Given the description of an element on the screen output the (x, y) to click on. 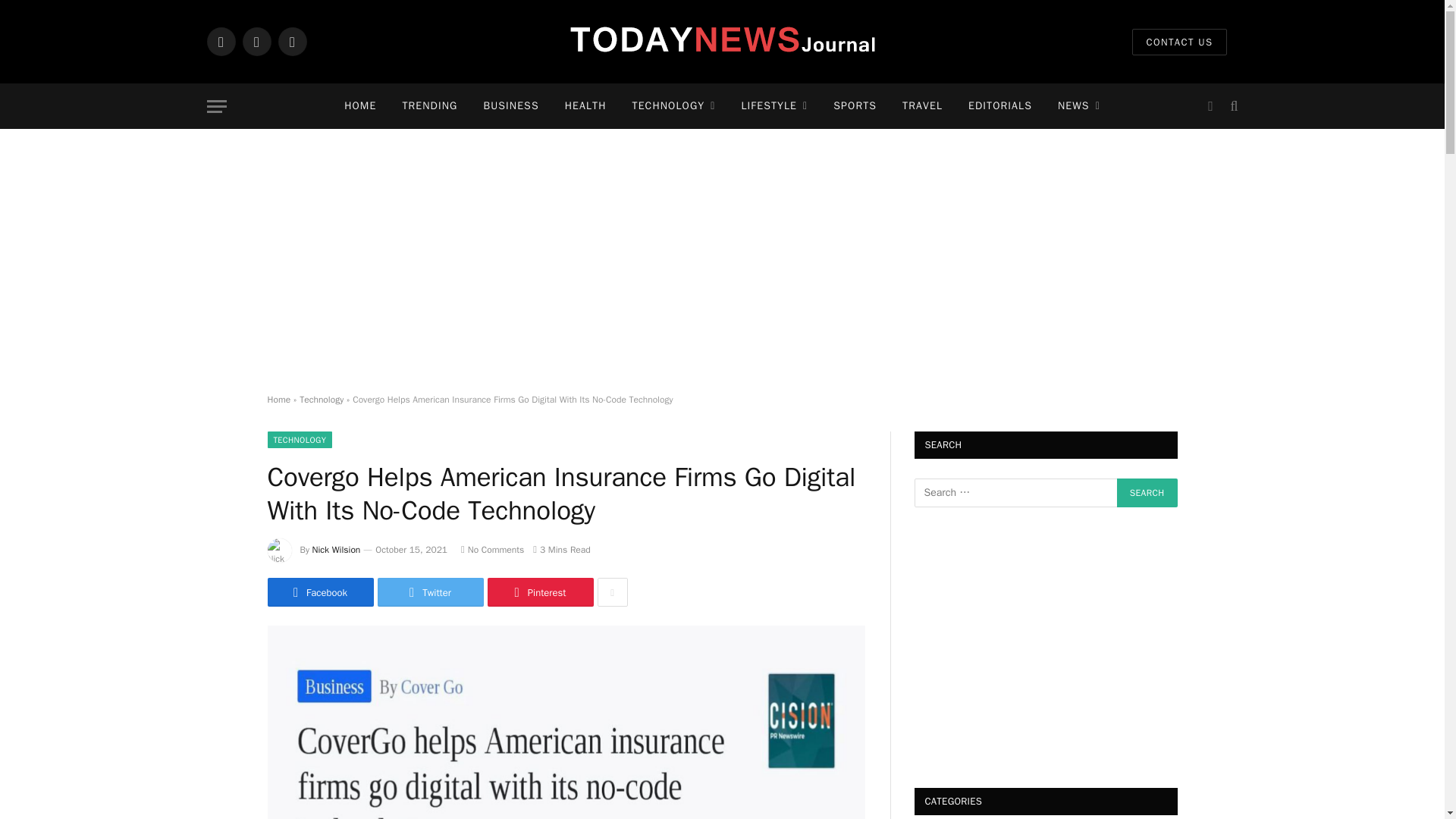
NEWS (1079, 105)
SPORTS (855, 105)
CONTACT US (1178, 41)
TRAVEL (922, 105)
Home (277, 399)
EDITORIALS (1000, 105)
BUSINESS (510, 105)
Instagram (291, 41)
Search (1146, 492)
